Given the description of an element on the screen output the (x, y) to click on. 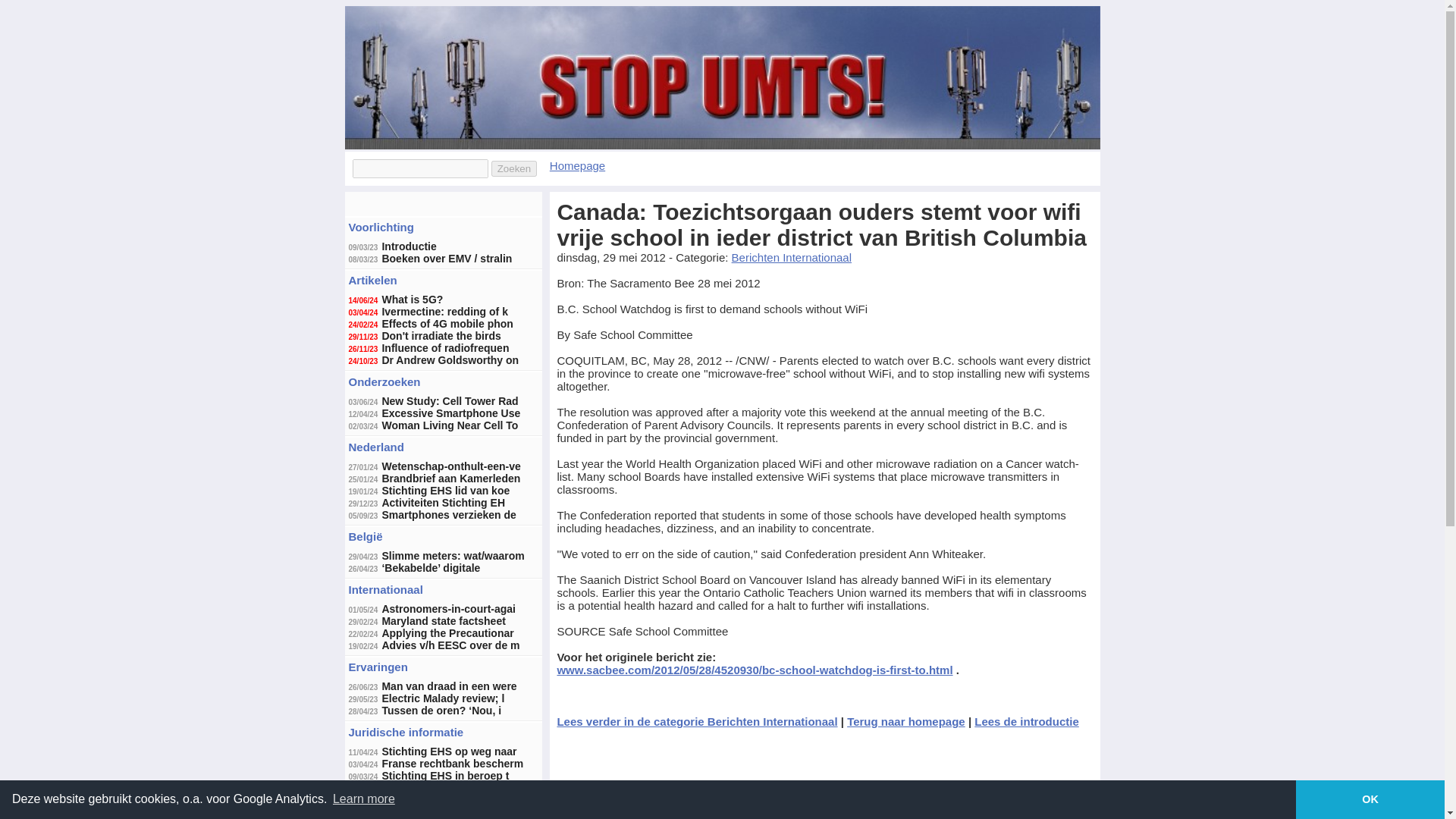
Influence of radiofrequen (444, 347)
Effects of 4G mobile phon (446, 323)
What is 5G? (411, 299)
Lees verder in de categorie Berichten Internationaal (696, 721)
Homepage (577, 164)
Ga naar overzicht: Berichten Nederland (376, 446)
Artikelen (373, 279)
Voorlichting (381, 226)
Introductie (408, 246)
Learn more (363, 798)
Don't irradiate the birds! (440, 336)
New Study: Cell Tower Rad (449, 400)
